Given the description of an element on the screen output the (x, y) to click on. 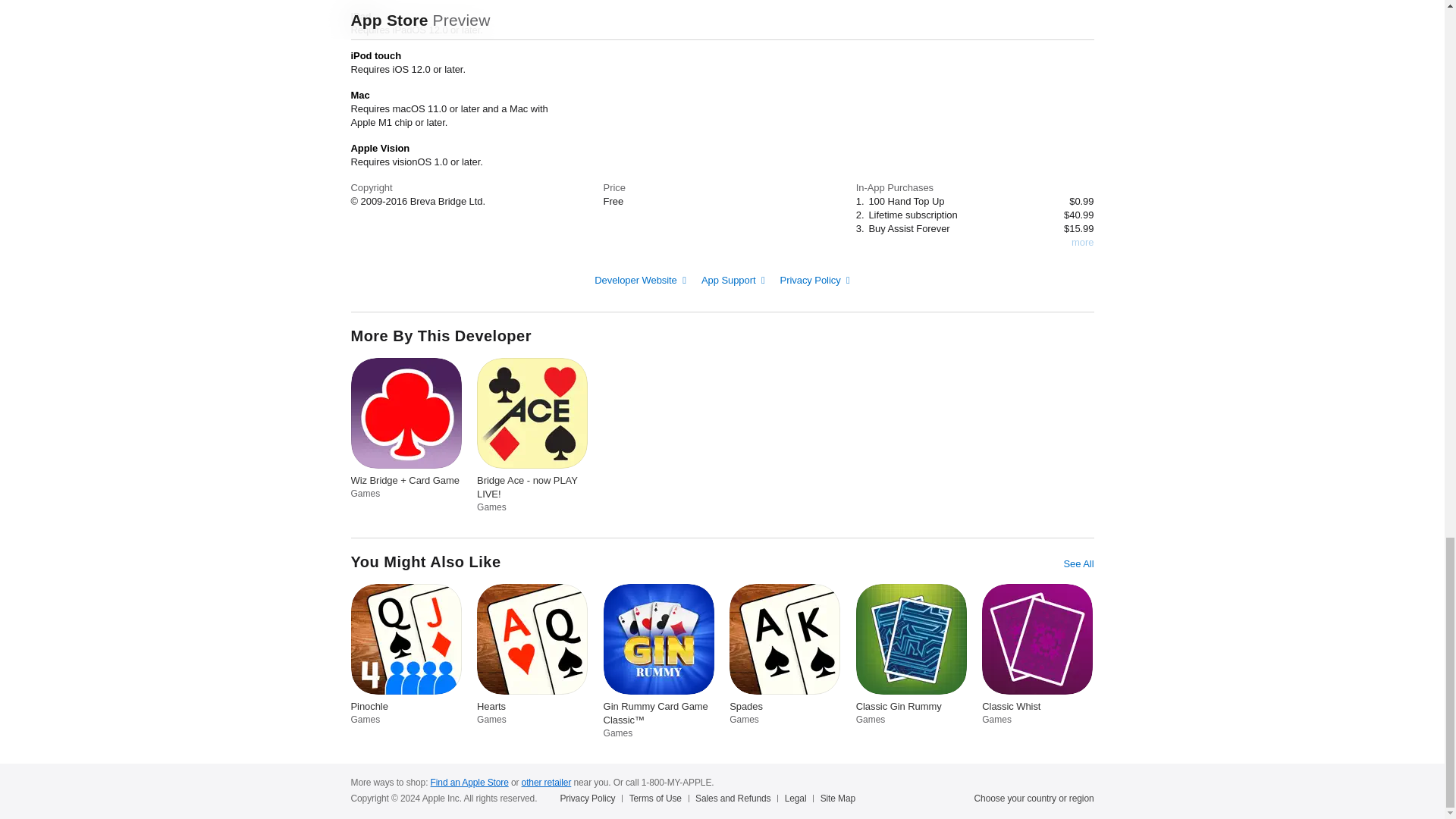
Choose your country or region (1034, 798)
